Given the description of an element on the screen output the (x, y) to click on. 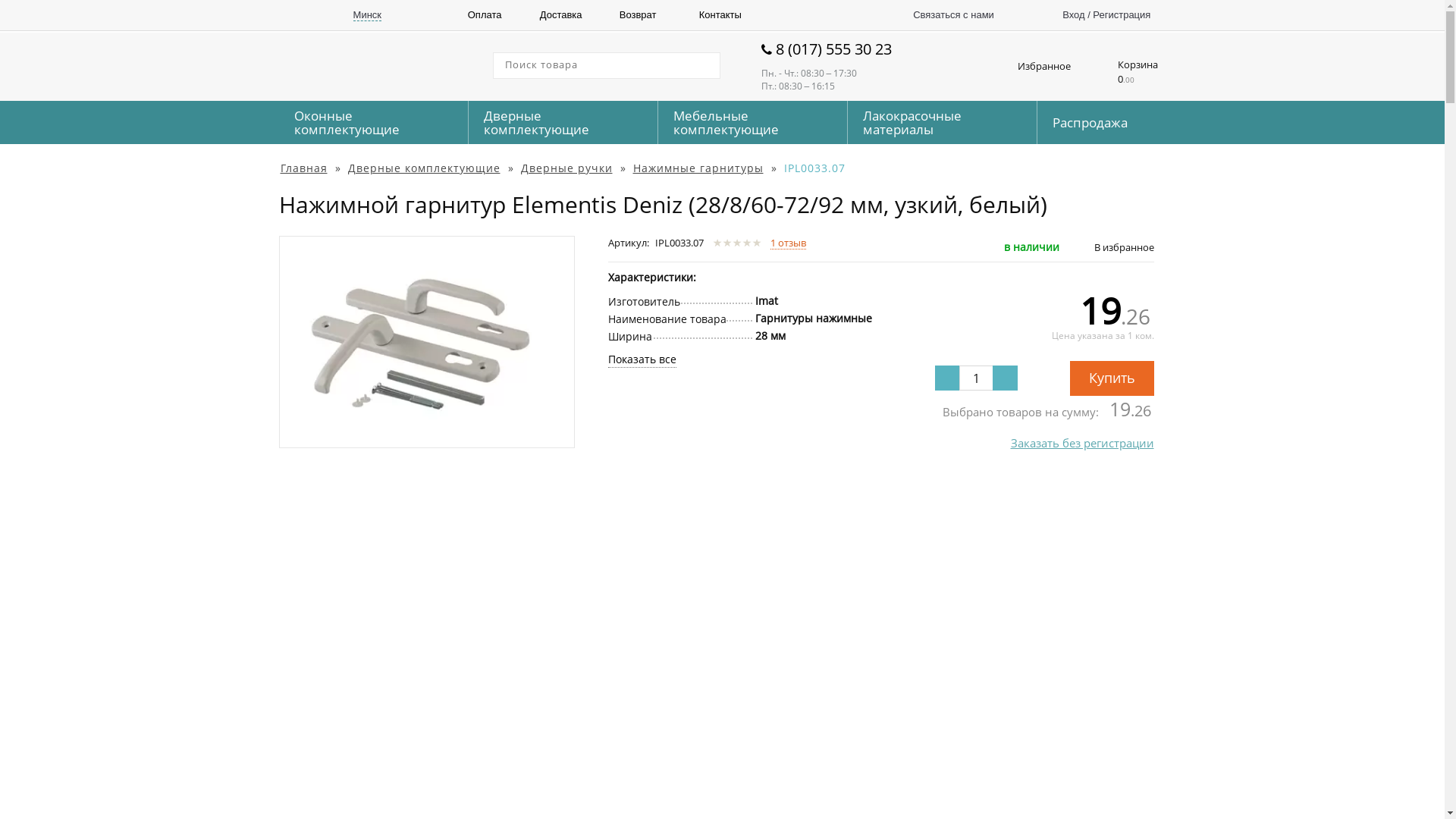
8 (017) 555 30 23 Element type: text (846, 49)
